Given the description of an element on the screen output the (x, y) to click on. 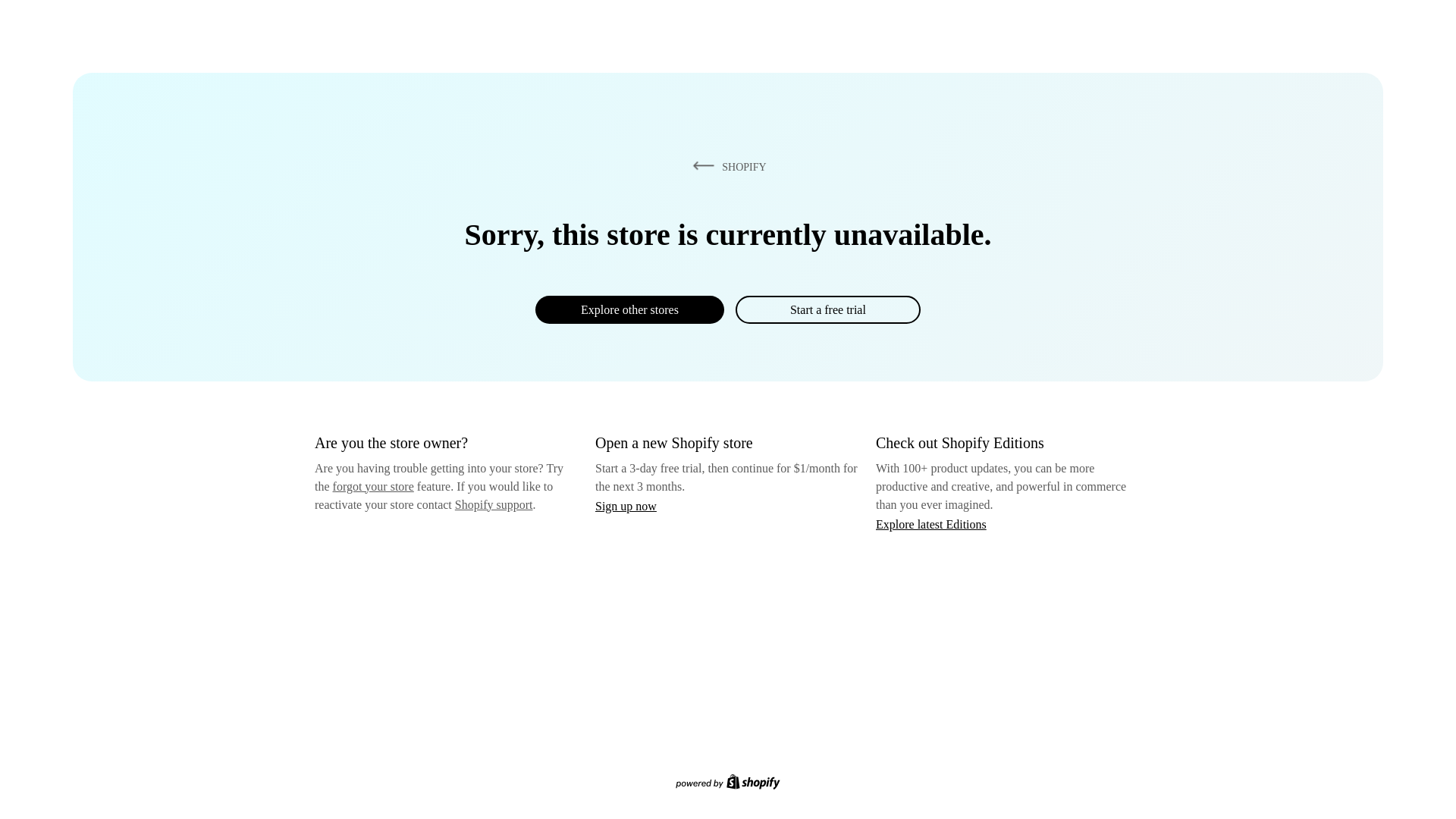
Explore latest Editions (931, 523)
SHOPIFY (726, 166)
Sign up now (625, 505)
forgot your store (373, 486)
Explore other stores (629, 309)
Start a free trial (827, 309)
Shopify support (493, 504)
